Given the description of an element on the screen output the (x, y) to click on. 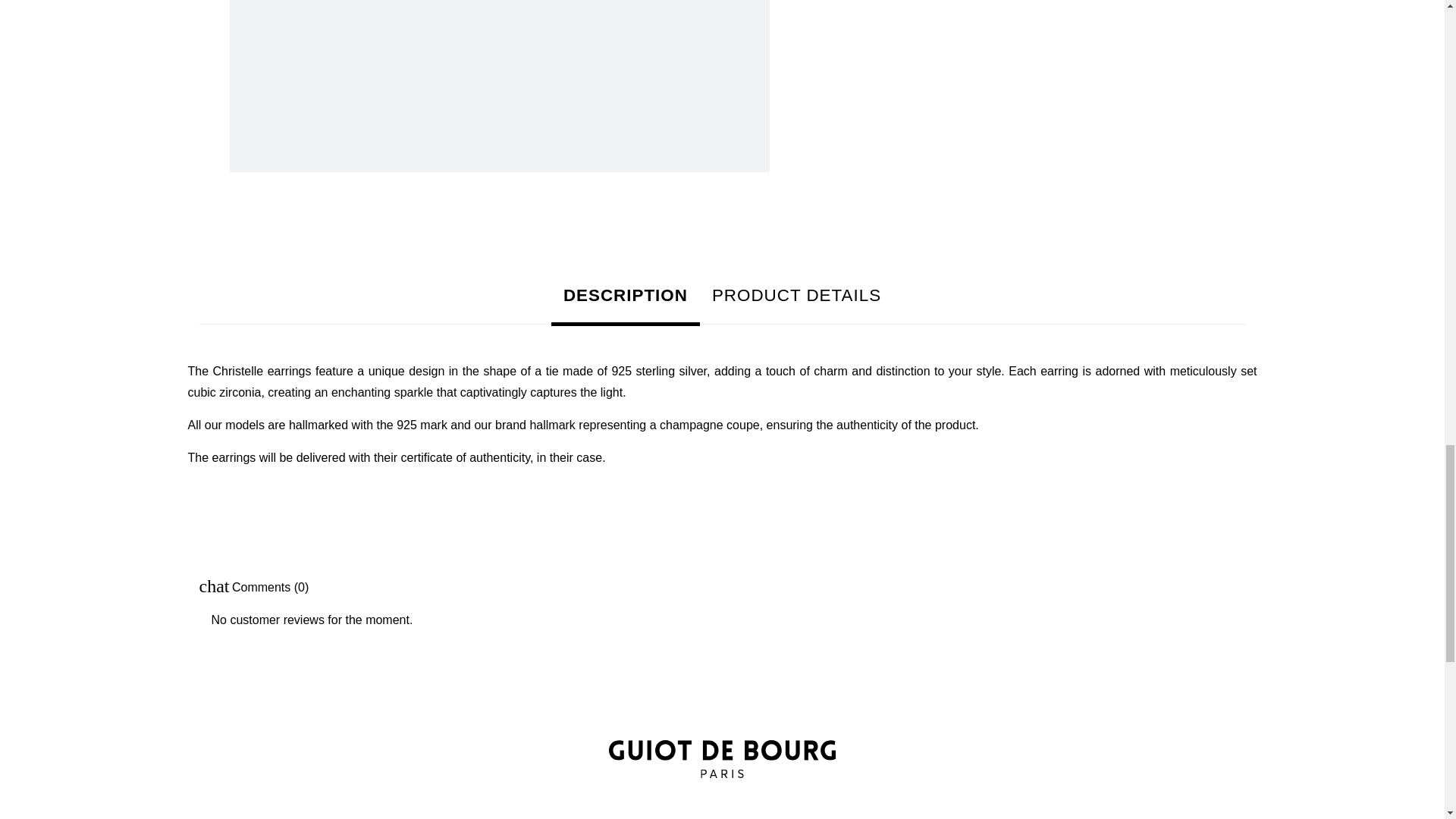
PRODUCT DETAILS (796, 295)
DESCRIPTION (625, 297)
